Given the description of an element on the screen output the (x, y) to click on. 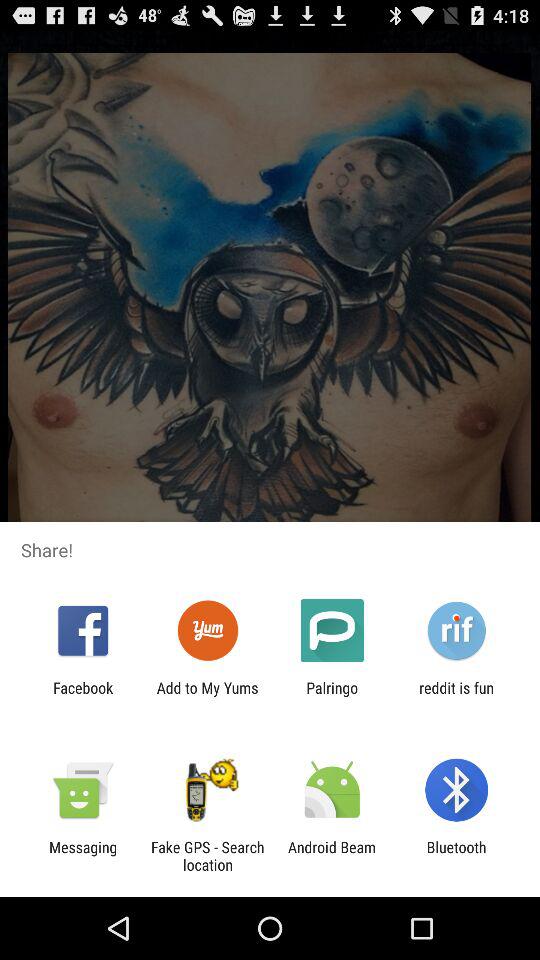
launch the android beam icon (332, 856)
